Given the description of an element on the screen output the (x, y) to click on. 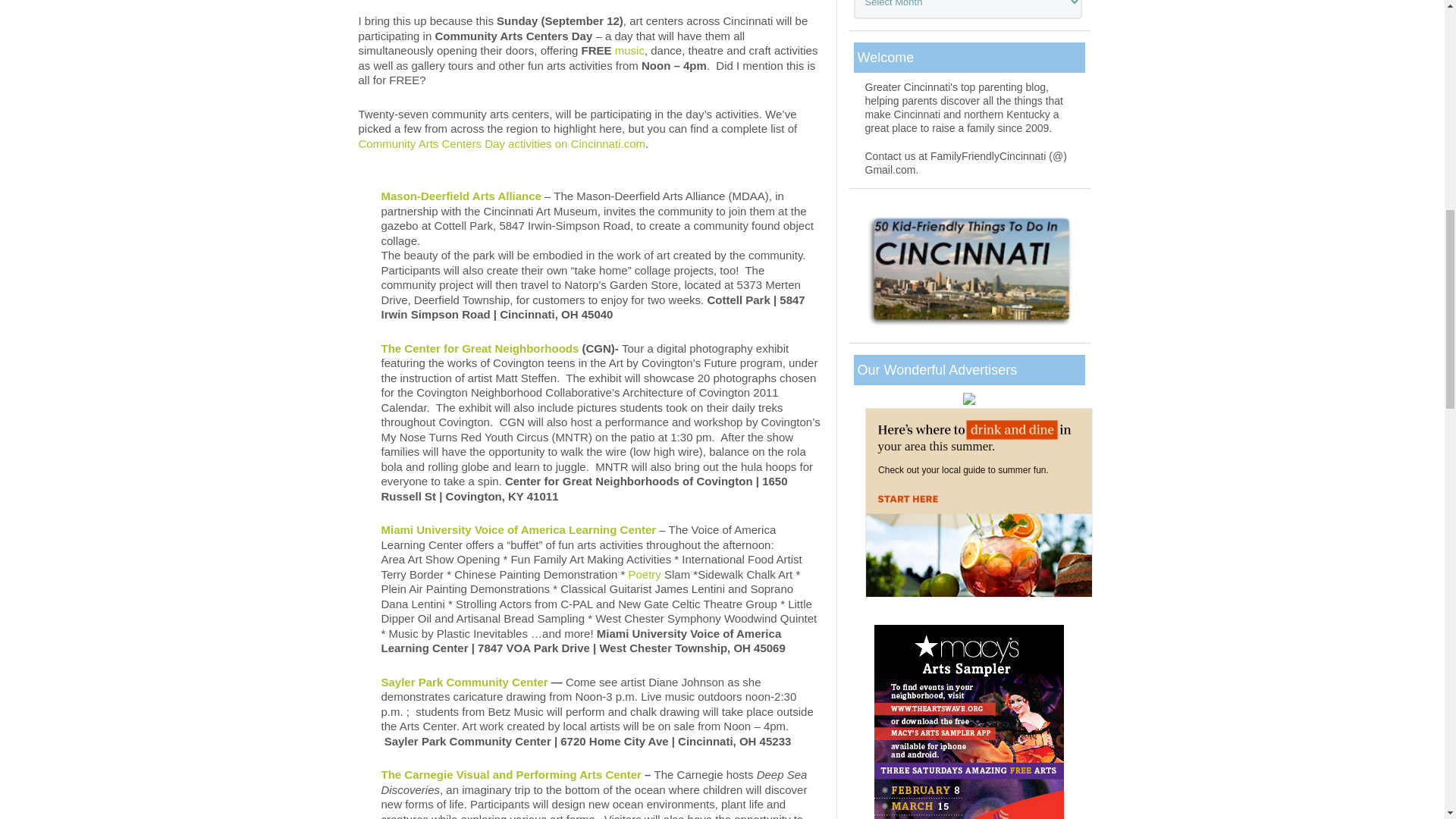
Community Arts Centers Day activities on Cincinnati.com (501, 143)
The Carnegie (510, 774)
music (629, 50)
3rd party ad content (978, 502)
Center for Great Neighborhoods (480, 348)
Sayler Park Community Center (463, 681)
Miami University Voice of America Learning Center (518, 529)
COA Learning Center (518, 529)
Sayler Park Community Center (463, 681)
The Center for Great Neighborhoods (480, 348)
Poetry (644, 574)
Mason Deerfield Arts Alliance (460, 195)
Advertisement (589, 78)
Mason-Deerfield Arts Alliance (460, 195)
